Given the description of an element on the screen output the (x, y) to click on. 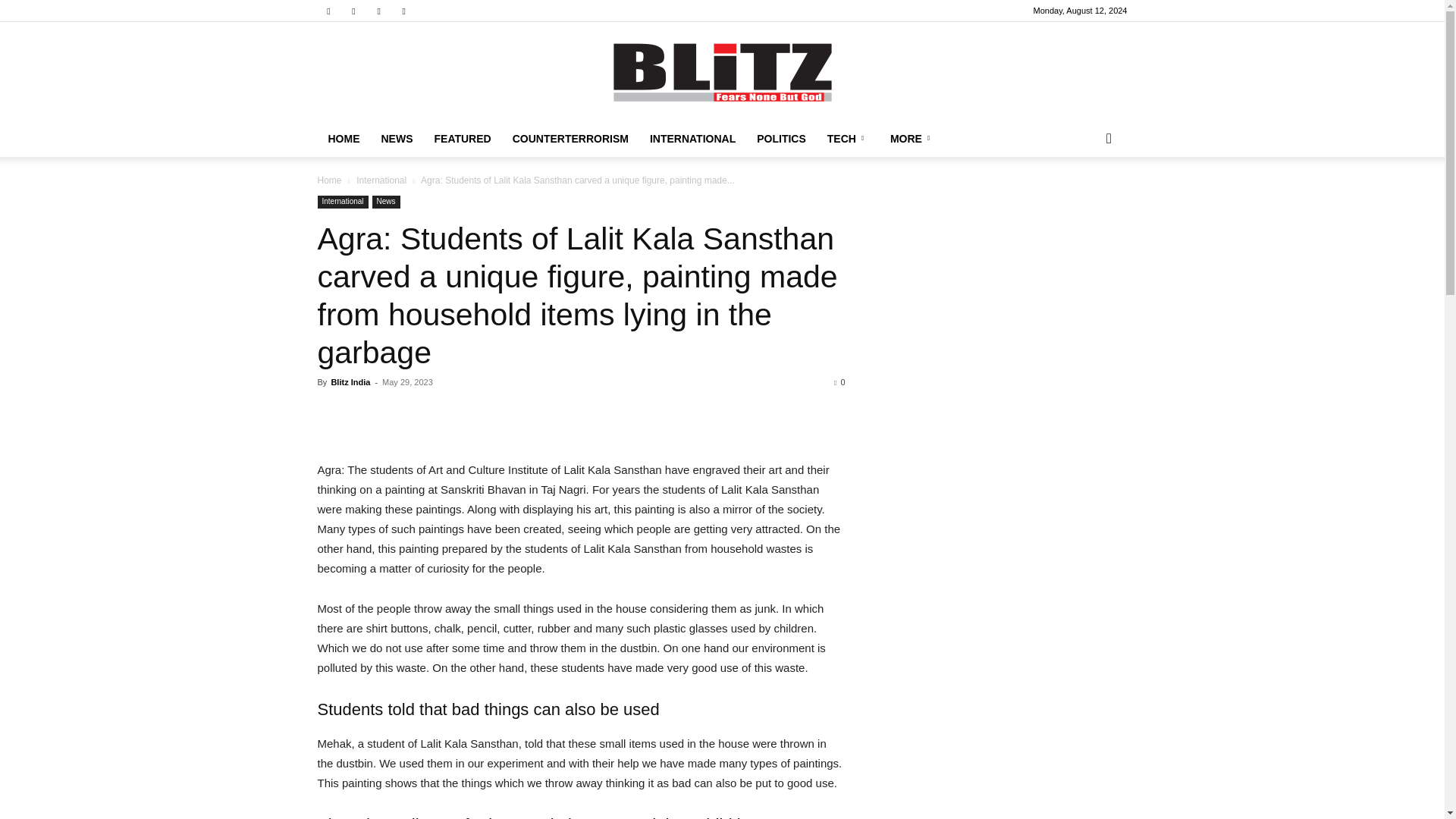
Telegram (353, 10)
Twitter (379, 10)
FEATURED (461, 138)
POLITICS (780, 138)
TECH (847, 138)
Youtube (403, 10)
NEWS (396, 138)
INTERNATIONAL (692, 138)
COUNTERTERRORISM (570, 138)
View all posts in International (381, 180)
